Given the description of an element on the screen output the (x, y) to click on. 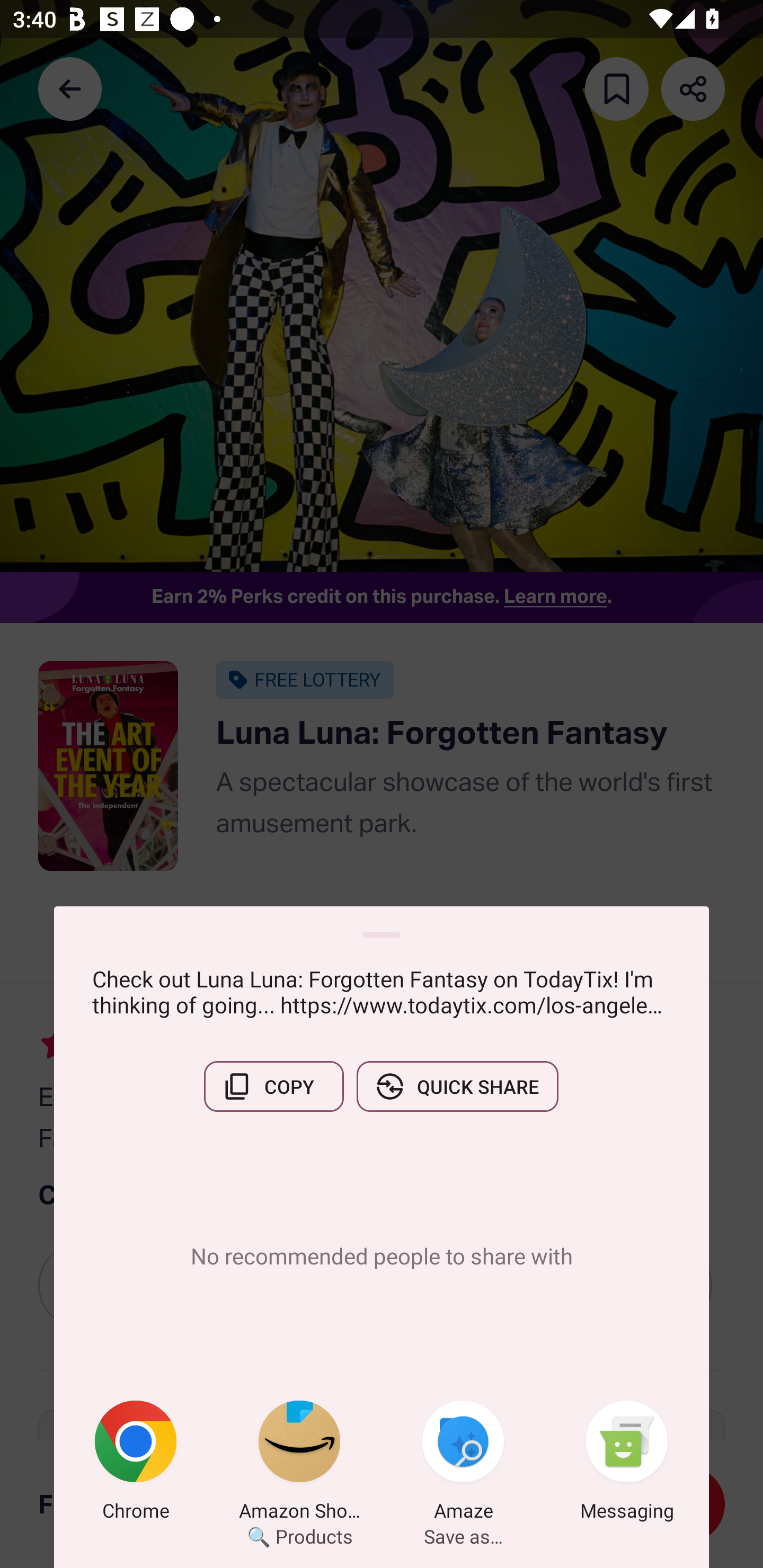
COPY (273, 1086)
QUICK SHARE (457, 1086)
Chrome (135, 1463)
Amazon Shopping 🔍 Products (299, 1463)
Amaze Save as… (463, 1463)
Messaging (626, 1463)
